Given the description of an element on the screen output the (x, y) to click on. 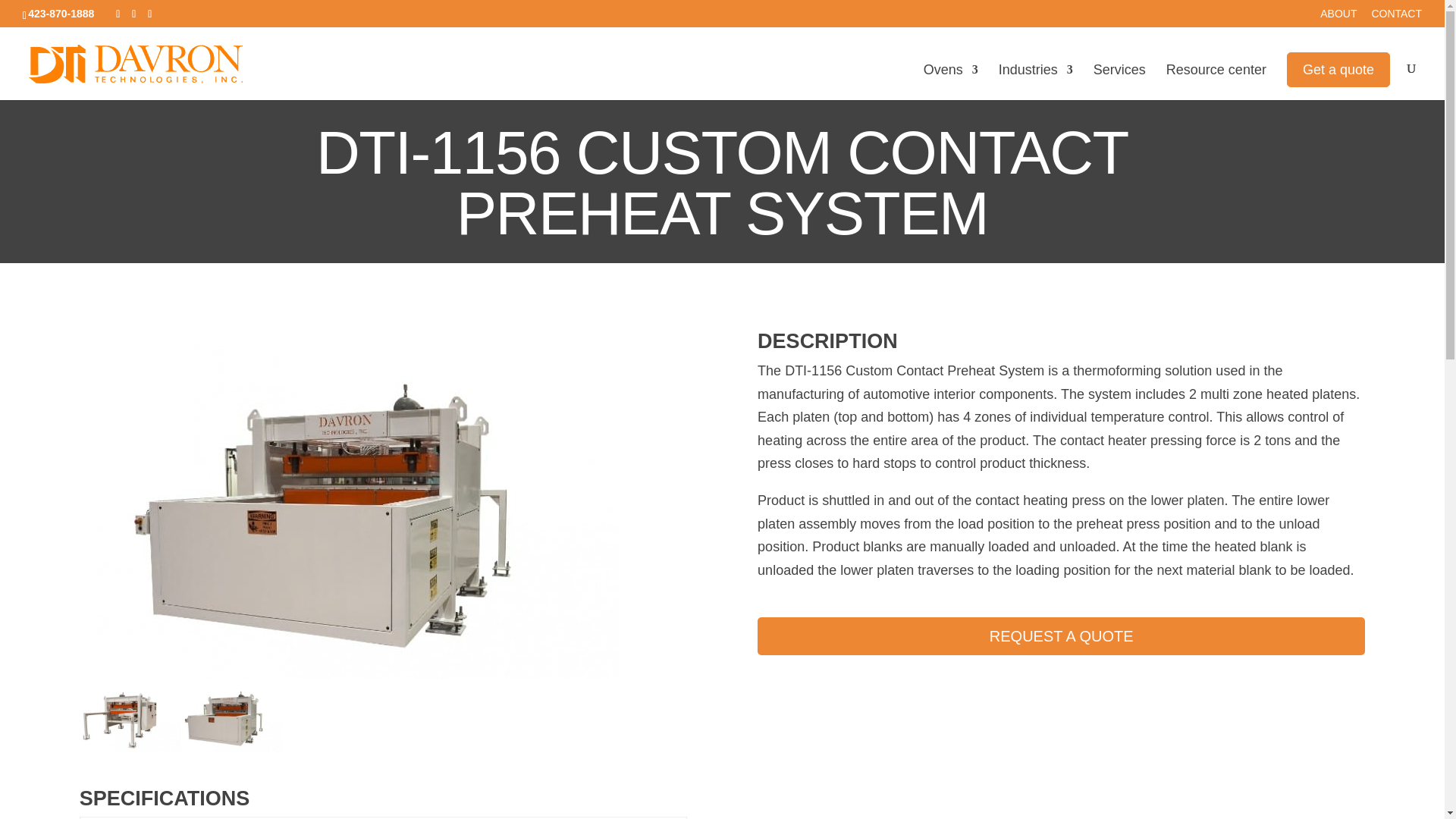
CONTACT (1396, 16)
Ovens (950, 81)
ABOUT (1338, 16)
